Given the description of an element on the screen output the (x, y) to click on. 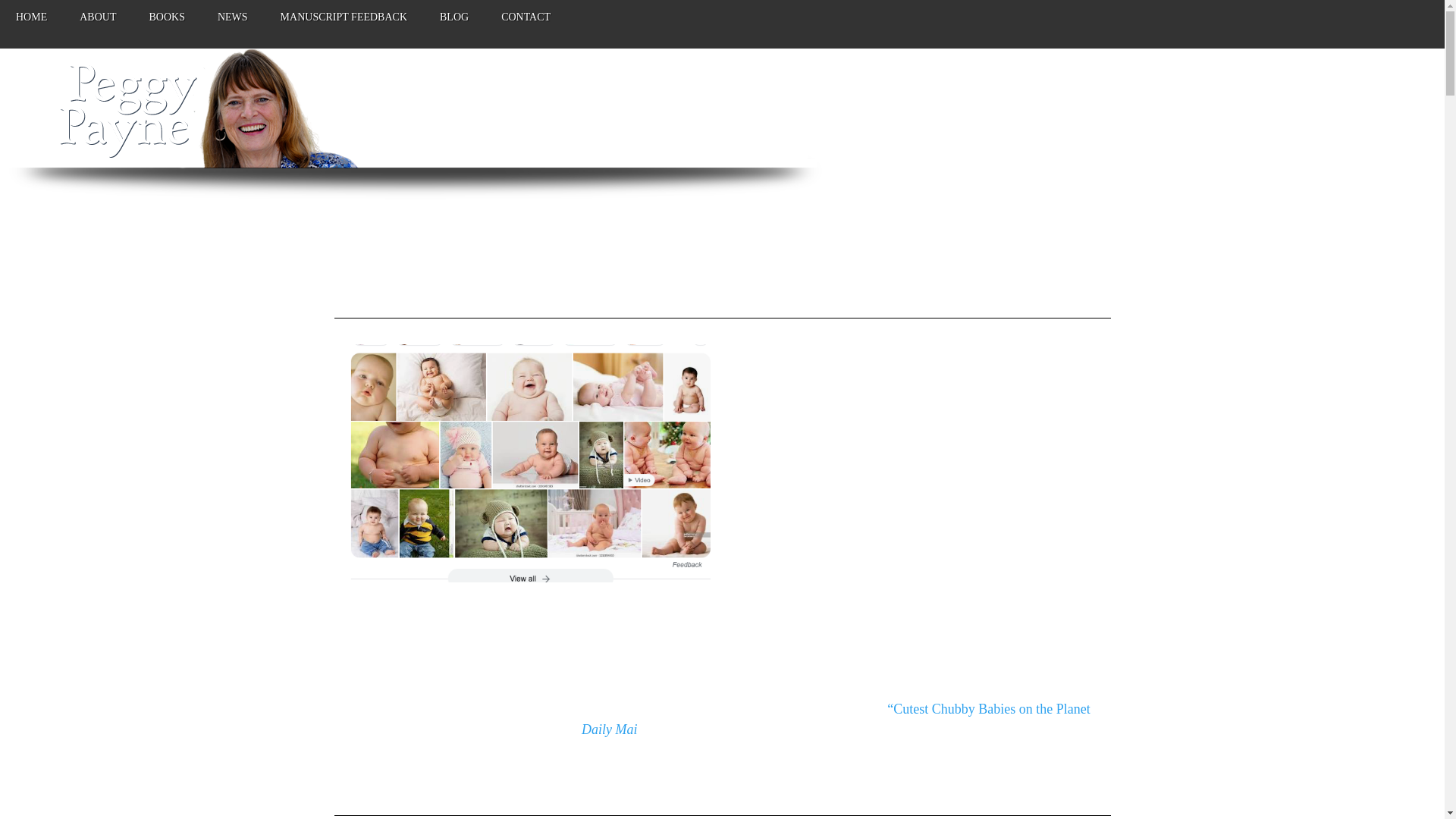
NEWS (232, 24)
MANUSCRIPT FEEDBACK (343, 24)
HOME (31, 24)
BOOKS (166, 24)
Daily Mai (608, 729)
CONTACT (525, 24)
BLOG (453, 24)
ABOUT (98, 24)
